Given the description of an element on the screen output the (x, y) to click on. 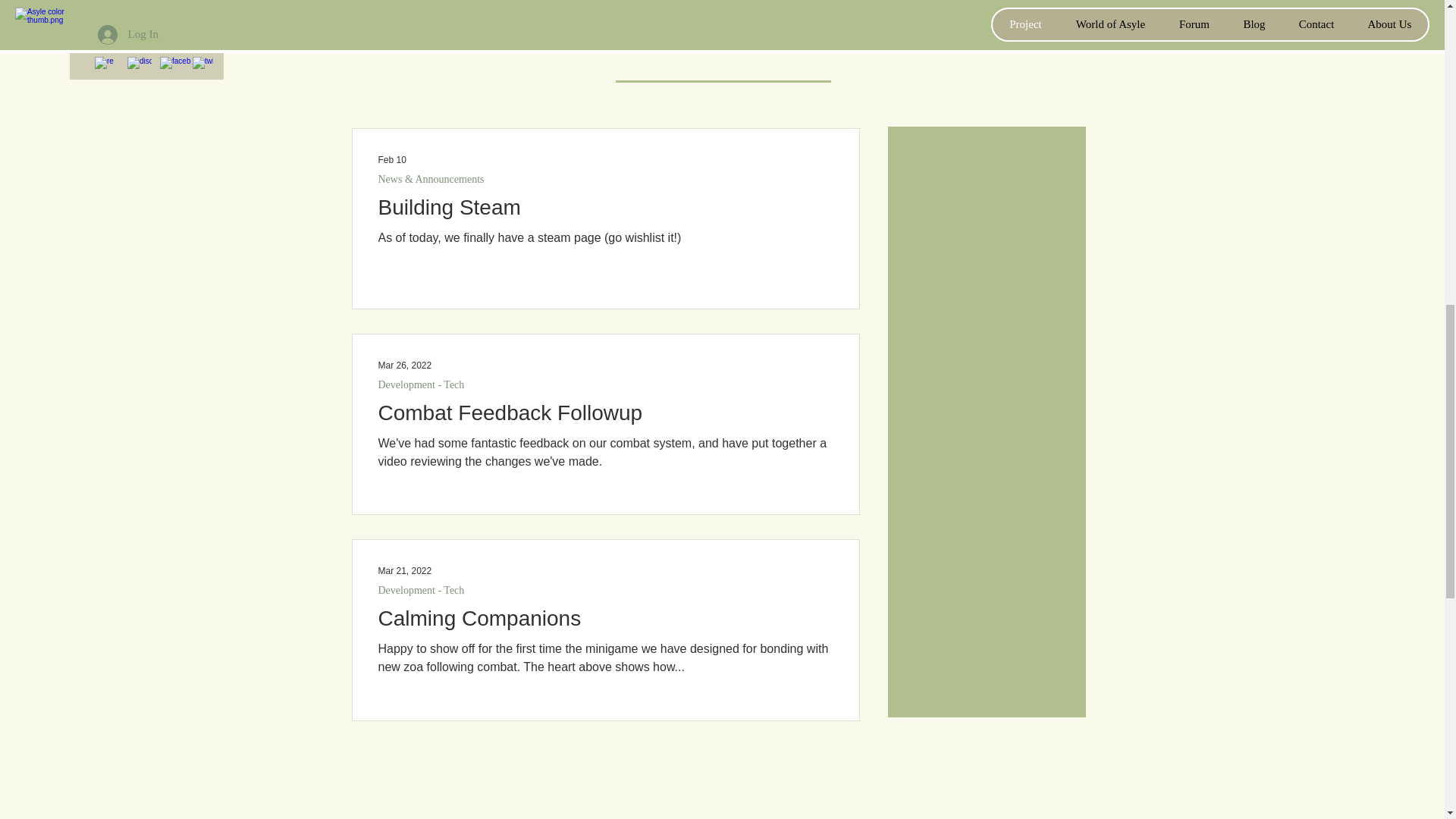
Calming Companions (604, 622)
Feb 10 (391, 159)
Mar 21, 2022 (403, 570)
Mar 26, 2022 (403, 365)
Building Steam (604, 211)
Combat Feedback Followup (604, 417)
Development - Tech (420, 590)
Development - Tech (420, 384)
